Given the description of an element on the screen output the (x, y) to click on. 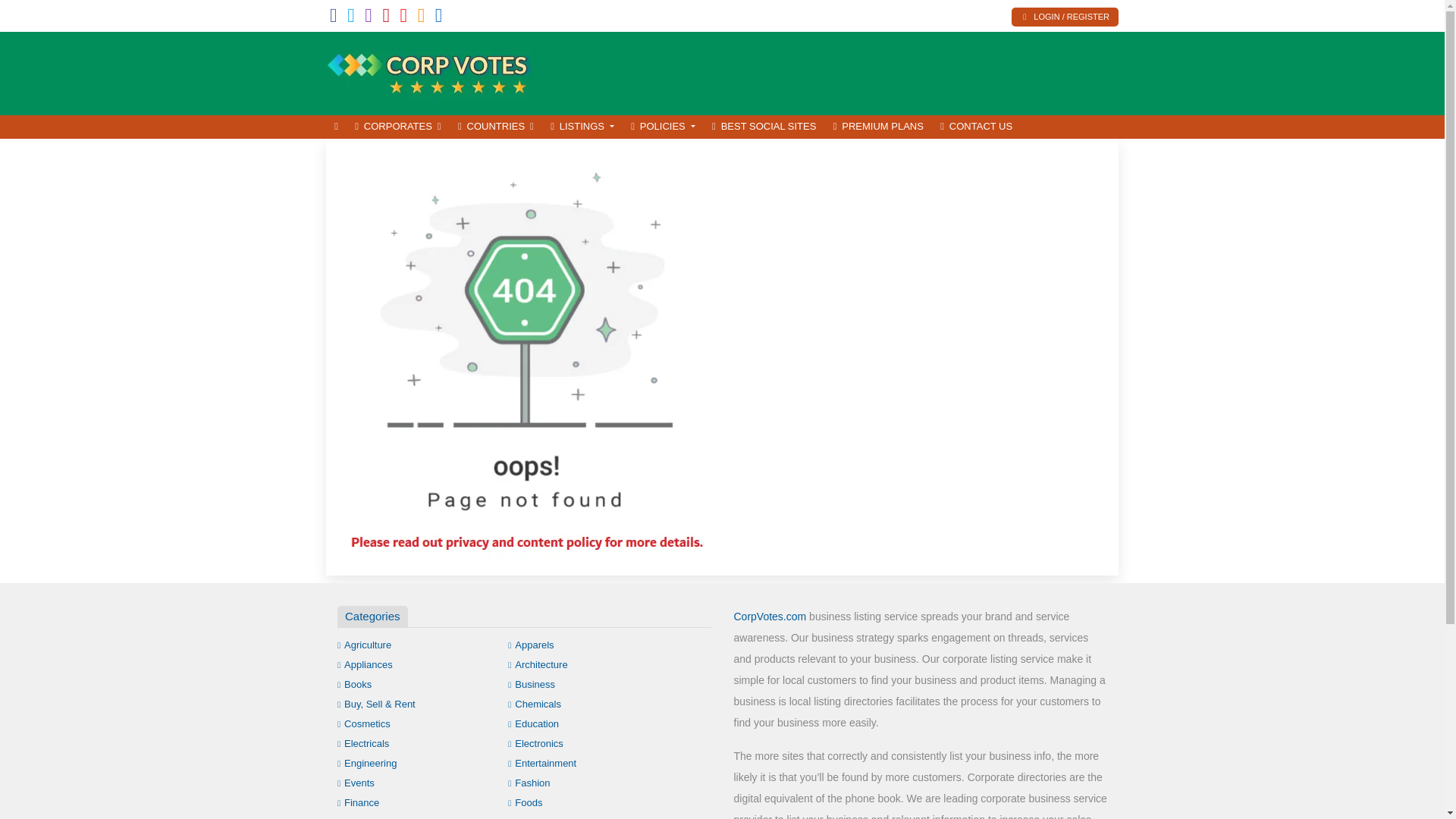
CORPORATES (397, 126)
COUNTRIES (495, 126)
Drive Traffic of Most Voted Corporate Bookmarks to Internet (428, 71)
